Given the description of an element on the screen output the (x, y) to click on. 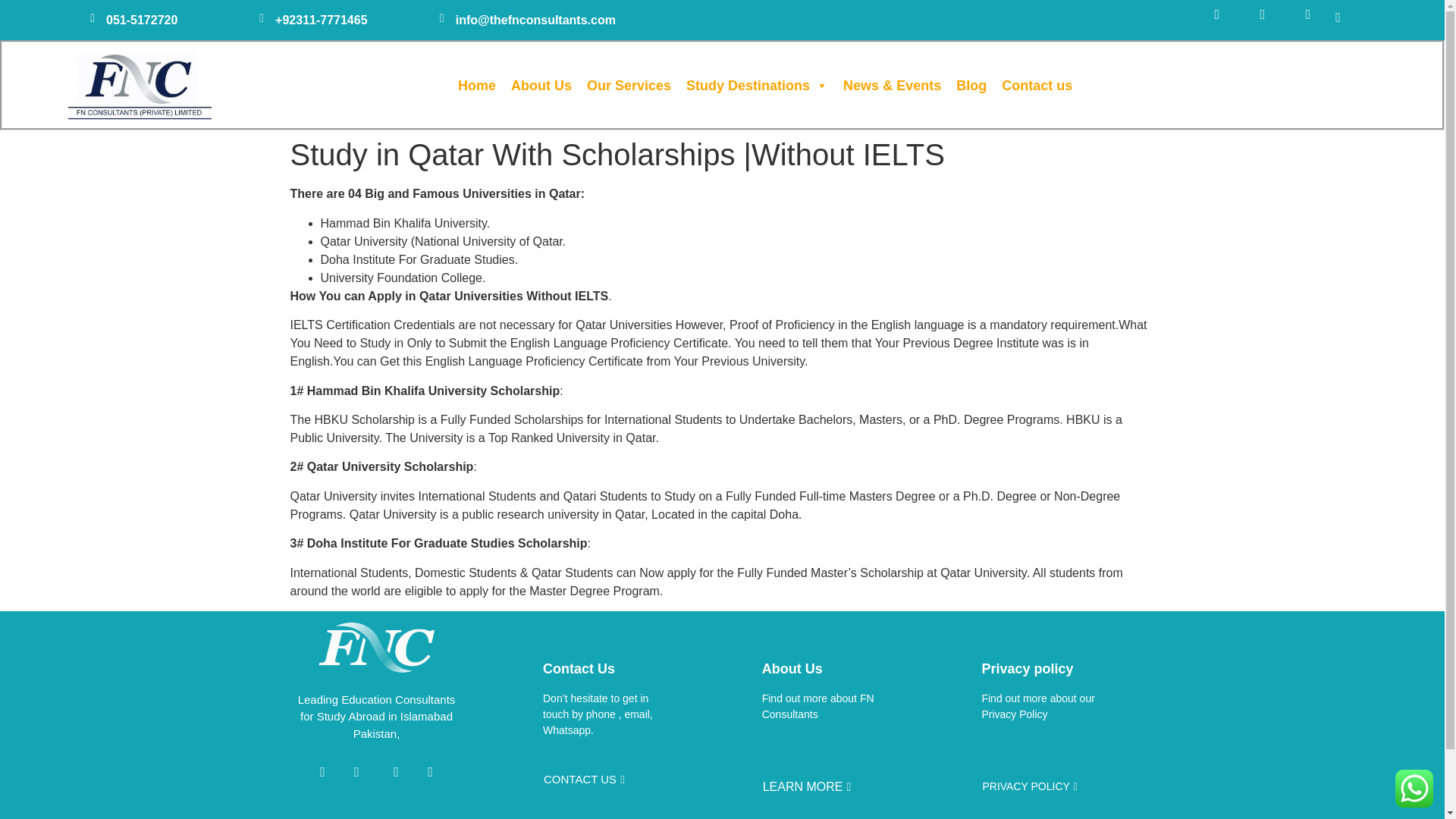
About Us (541, 85)
Contact us (1037, 85)
CONTACT US (584, 779)
051-5172720 (141, 19)
Study Destinations (756, 85)
PRIVACY POLICY (1029, 786)
Blog (971, 85)
Our Services (628, 85)
Home (476, 85)
LEARN MORE (806, 787)
